Given the description of an element on the screen output the (x, y) to click on. 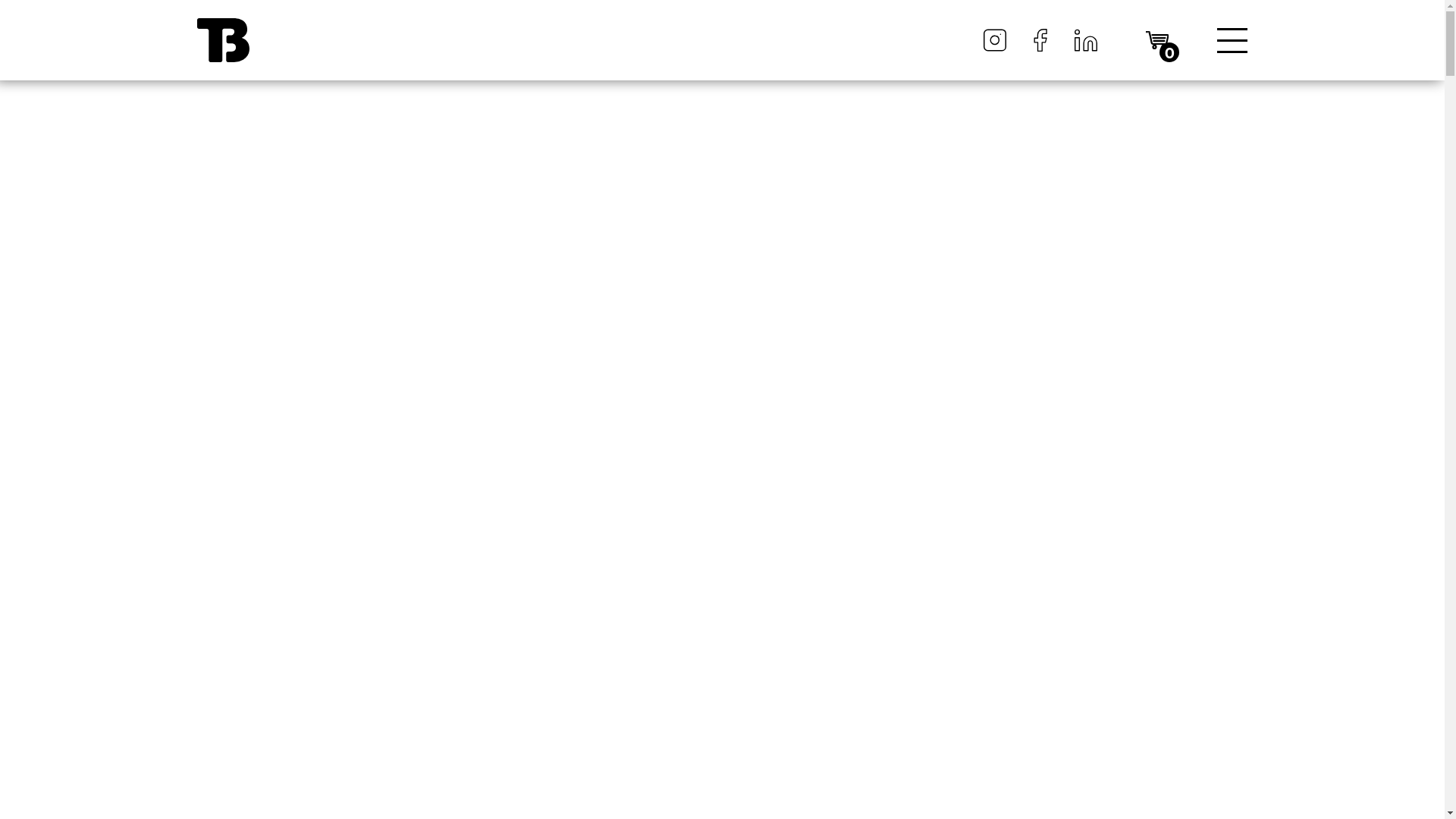
0 Element type: text (1156, 38)
